Given the description of an element on the screen output the (x, y) to click on. 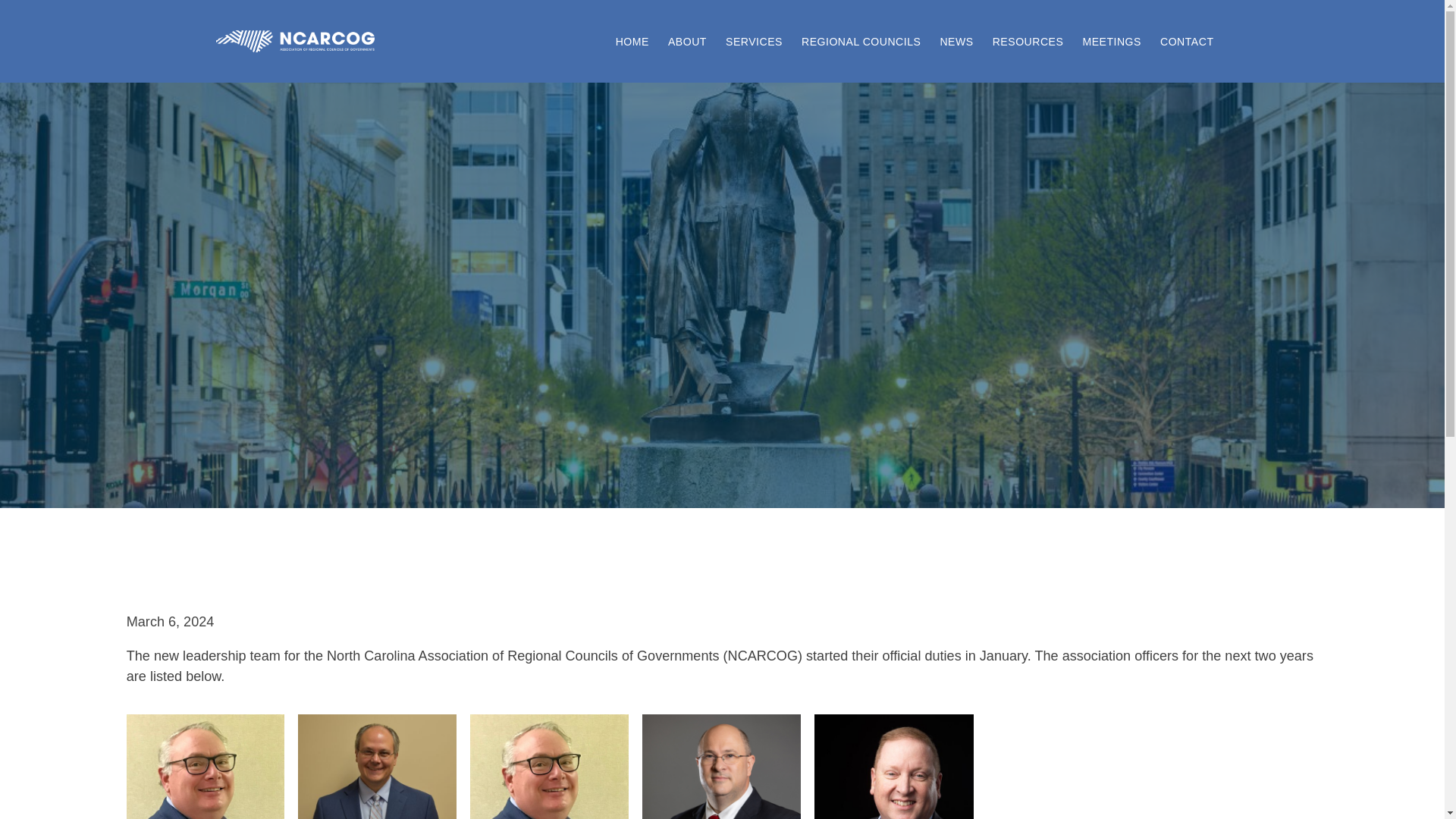
RESOURCES (1028, 41)
MEETINGS (1111, 41)
ABOUT (687, 41)
SERVICES (754, 41)
CONTACT (1187, 41)
REGIONAL COUNCILS (861, 41)
NEWS (955, 41)
HOME (632, 41)
